Given the description of an element on the screen output the (x, y) to click on. 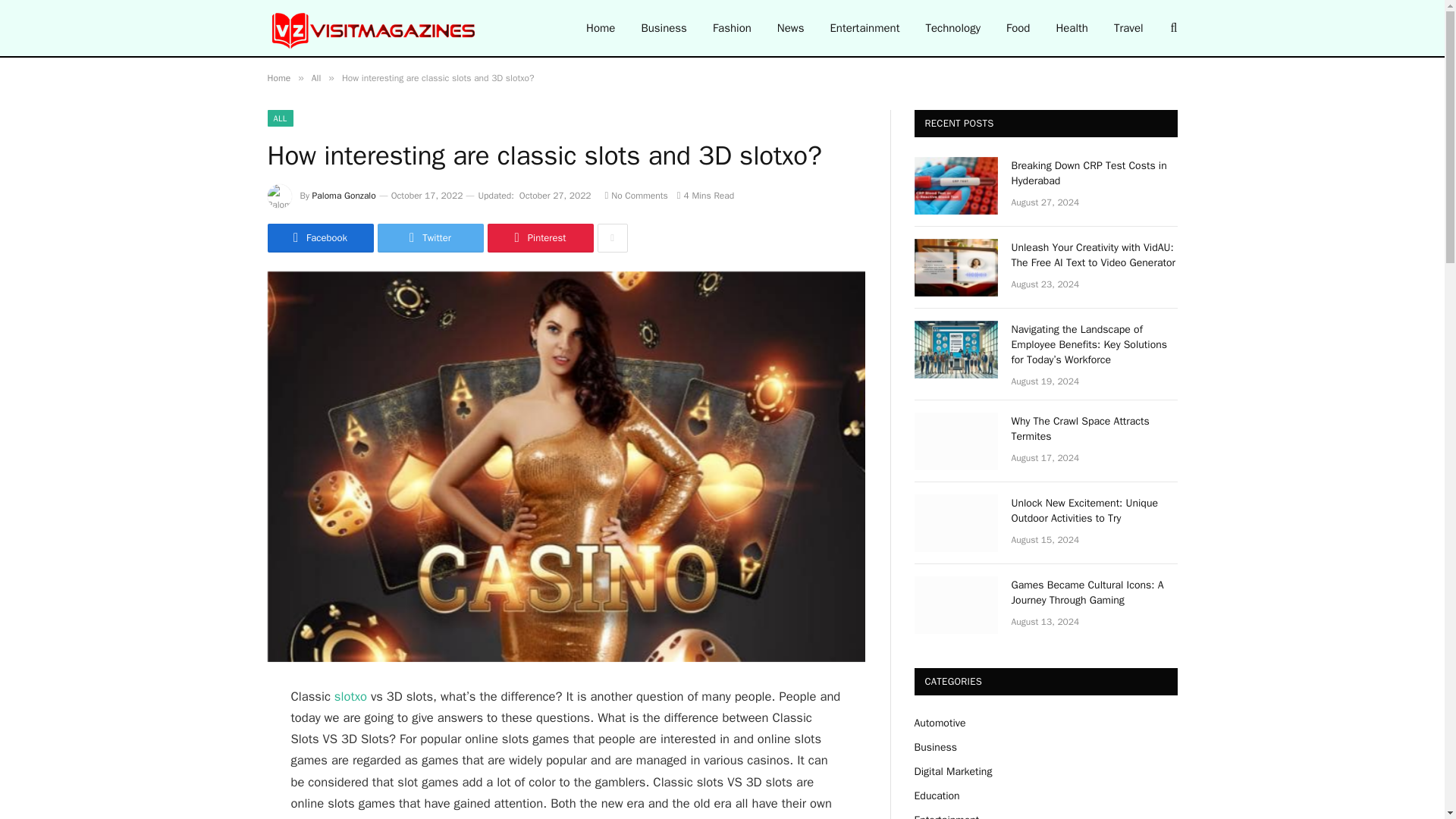
Entertainment (864, 28)
Share on Pinterest (539, 237)
Visitmagazines (373, 28)
Health (1071, 28)
slotxo (350, 696)
Technology (952, 28)
Show More Social Sharing (611, 237)
Home (600, 28)
Share on Facebook (319, 237)
